Given the description of an element on the screen output the (x, y) to click on. 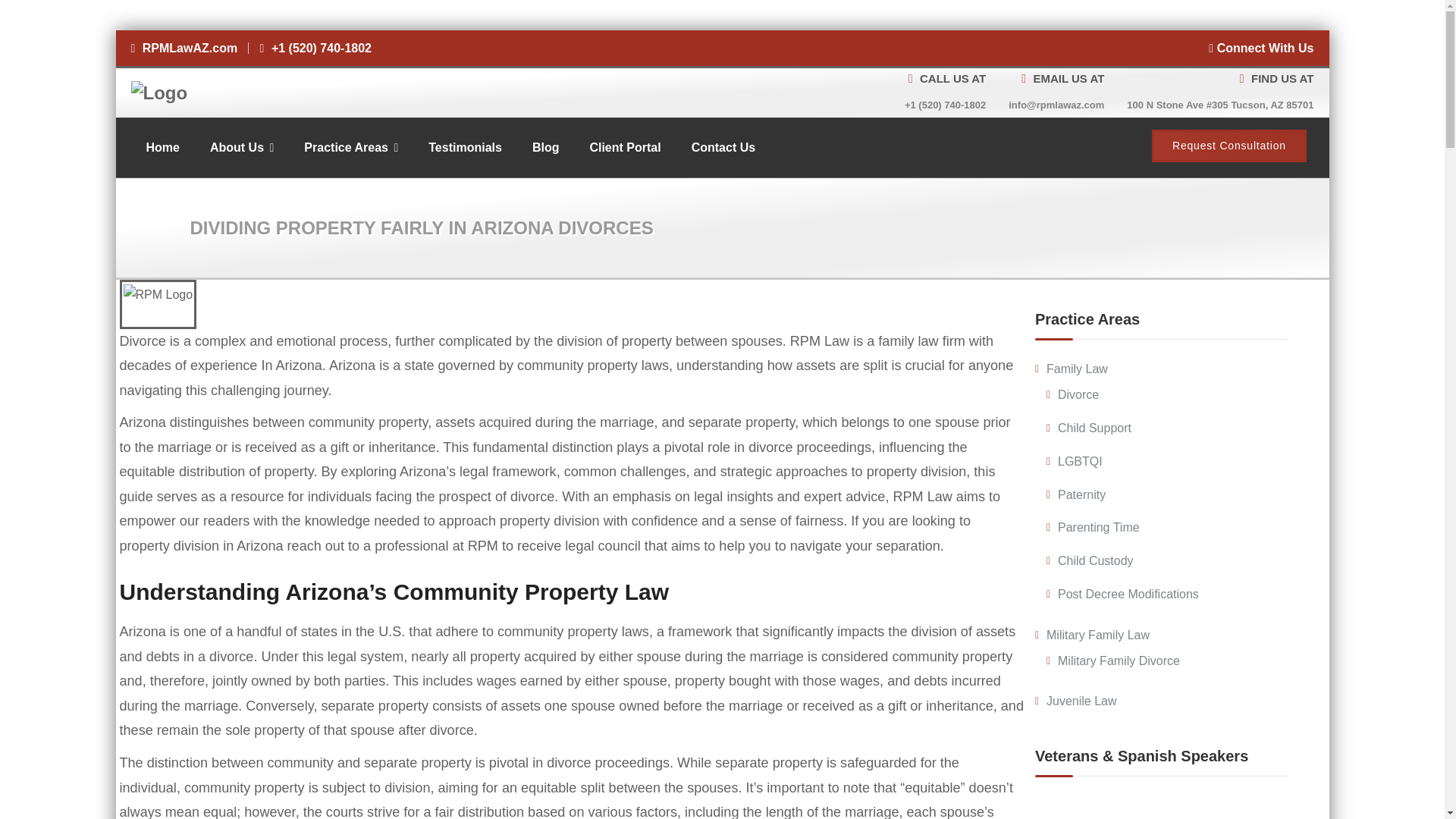
Home (162, 147)
Request Consultation (1228, 145)
 Connect With Us (1260, 47)
Practice Areas (350, 147)
Contact Us (723, 147)
Client Portal (624, 147)
Practice Areas (350, 147)
Testimonials (464, 147)
Connect With Us (1260, 47)
Home (162, 147)
Blog (545, 147)
About Us (241, 147)
About Us (241, 147)
